Given the description of an element on the screen output the (x, y) to click on. 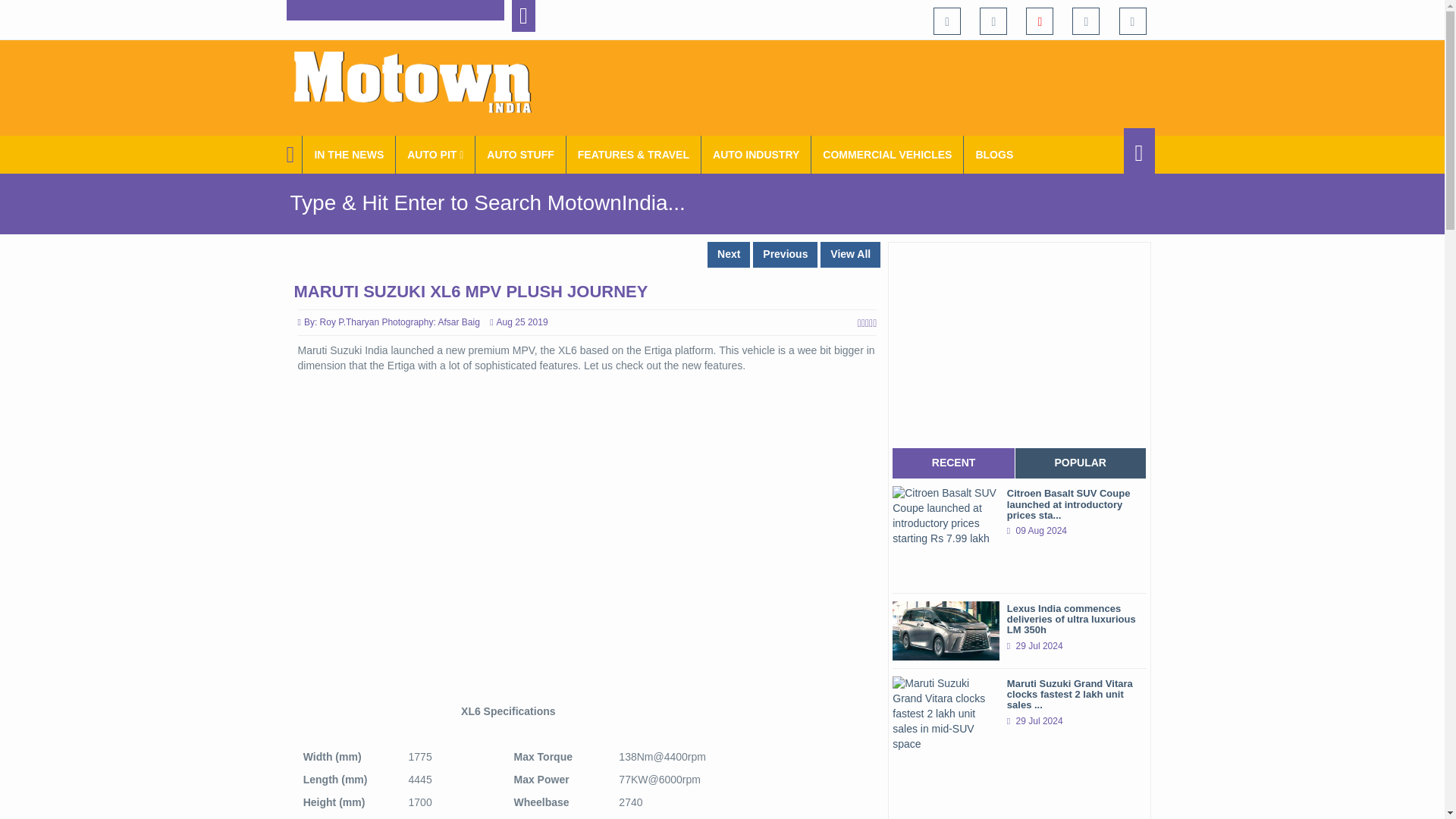
Motown India on Instagram (1085, 21)
Motown India on Facebook (946, 21)
BLOGS (994, 154)
IN THE NEWS (349, 154)
AUTO STUFF (521, 154)
COMMERCIAL VEHICLES (886, 154)
Previous (784, 254)
Next (728, 254)
View All Auto-Pit - Motown India (436, 154)
MotownIndia (421, 81)
